Given the description of an element on the screen output the (x, y) to click on. 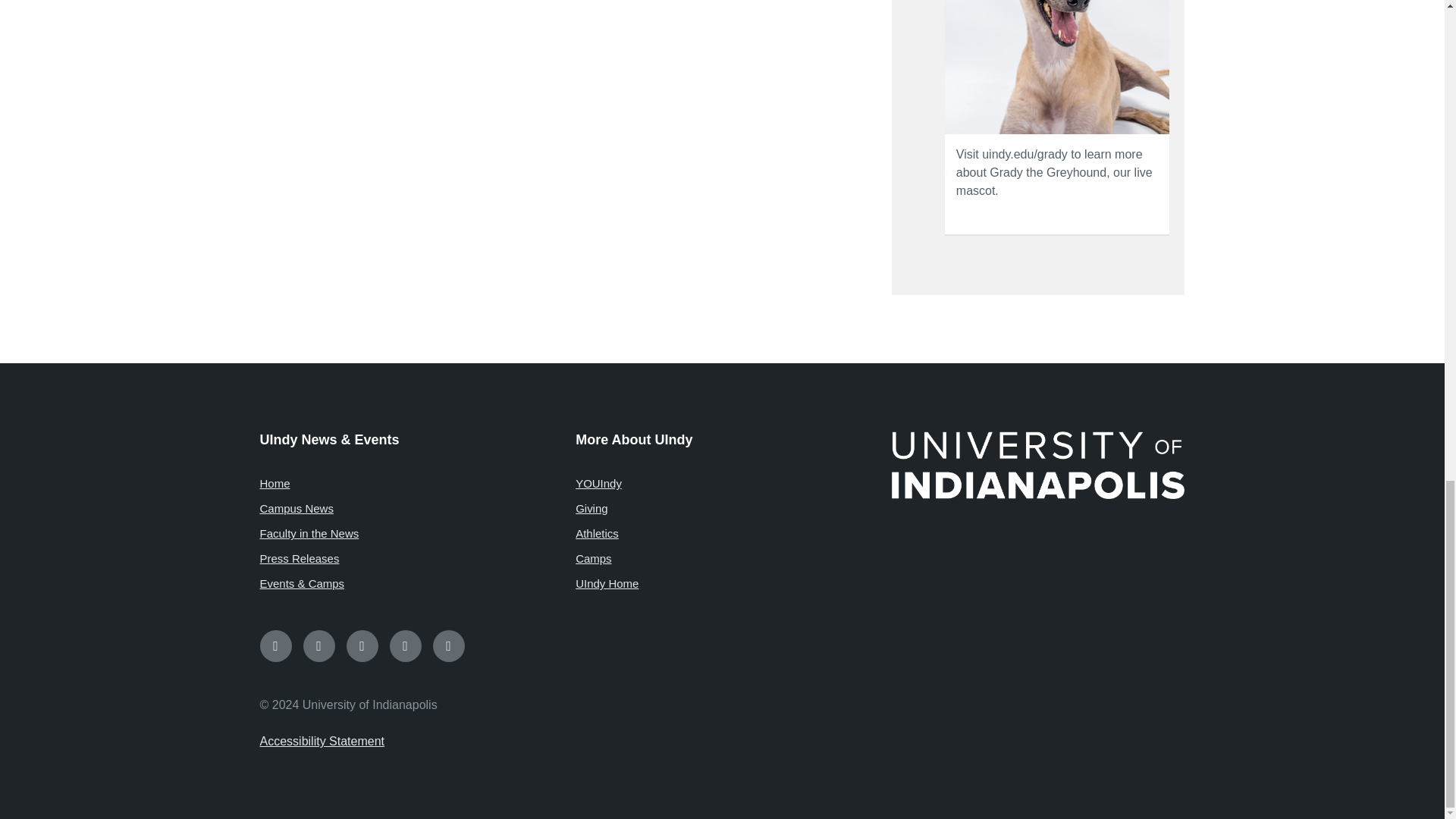
Meet Grady! (1057, 67)
Instagram (318, 645)
LinkedIn (448, 645)
Social Media Links (722, 645)
Facebook (275, 645)
Twitter (361, 645)
YouTube (406, 645)
